Given the description of an element on the screen output the (x, y) to click on. 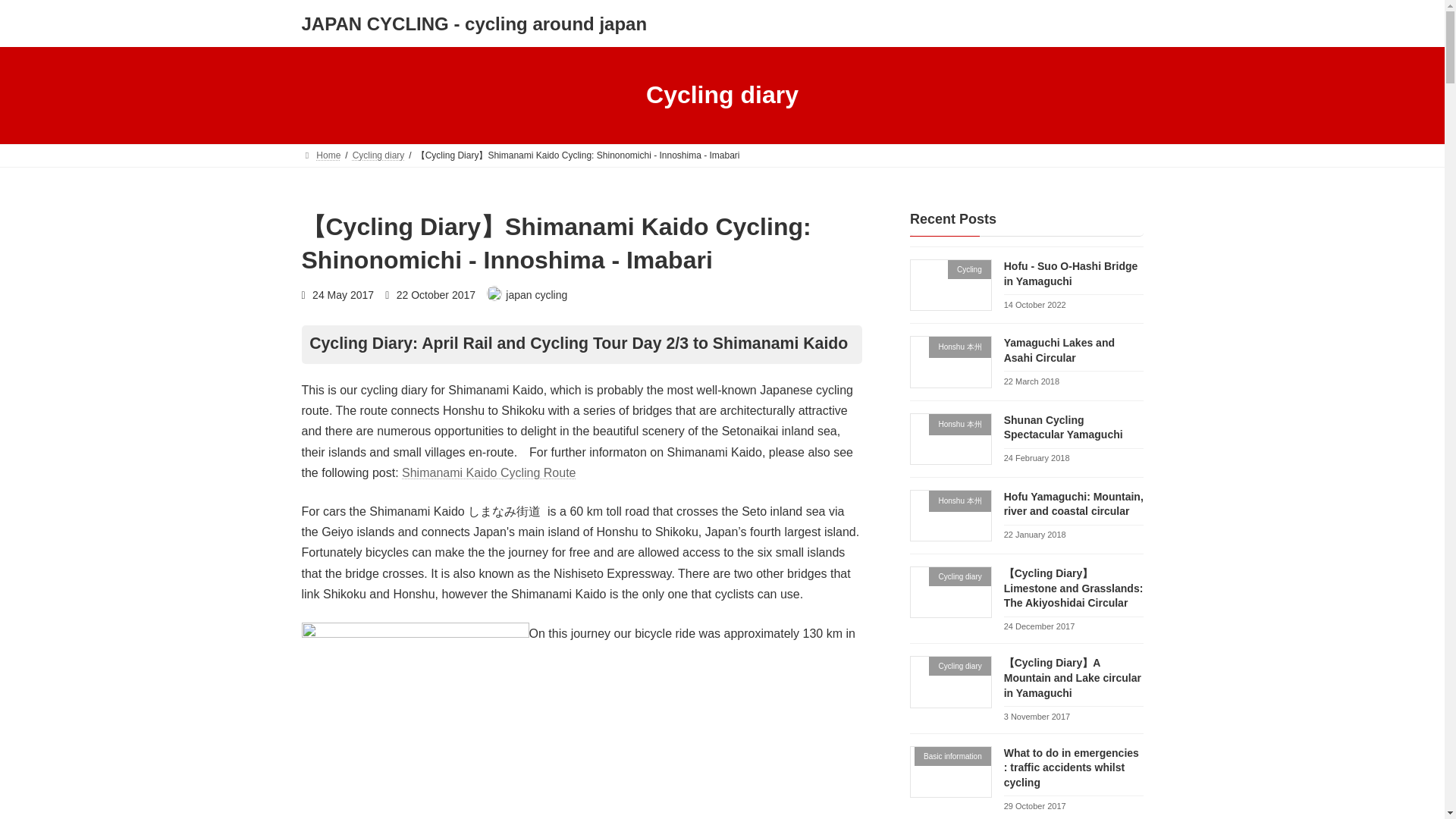
JAPAN CYCLING - cycling around japan (474, 23)
Home (320, 154)
Yamaguchi Lakes and Asahi Circular (1058, 349)
Cycling diary (378, 154)
Shimanami Kaido Cycling Route (488, 472)
Hofu Yamaguchi: Mountain, river and coastal circular (1072, 502)
Shunan Cycling Spectacular Yamaguchi (1062, 426)
What to do in emergencies : traffic accidents whilst cycling (1070, 766)
Hofu - Suo O-Hashi Bridge in Yamaguchi (1070, 273)
